Given the description of an element on the screen output the (x, y) to click on. 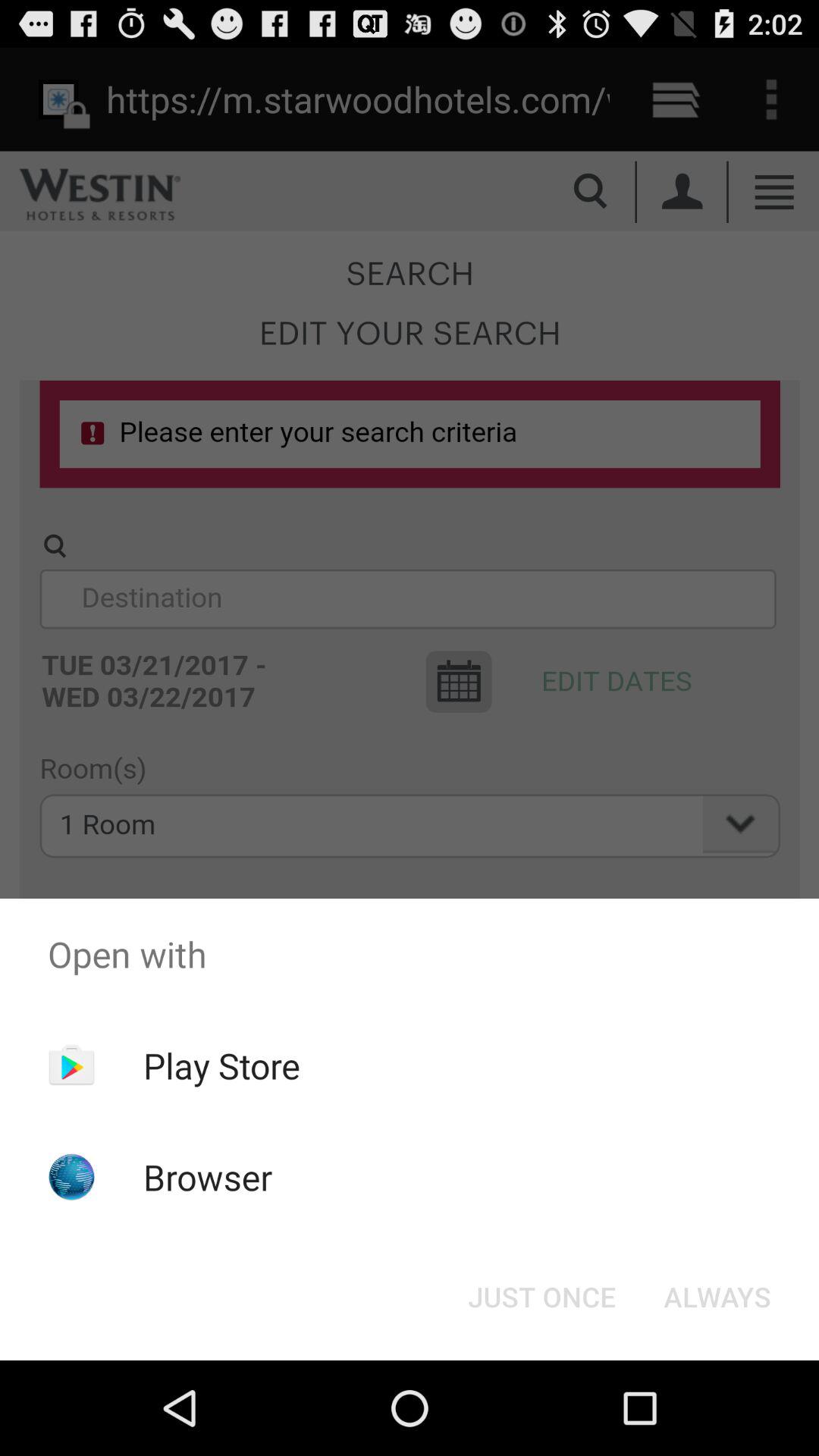
swipe to the just once icon (541, 1296)
